Given the description of an element on the screen output the (x, y) to click on. 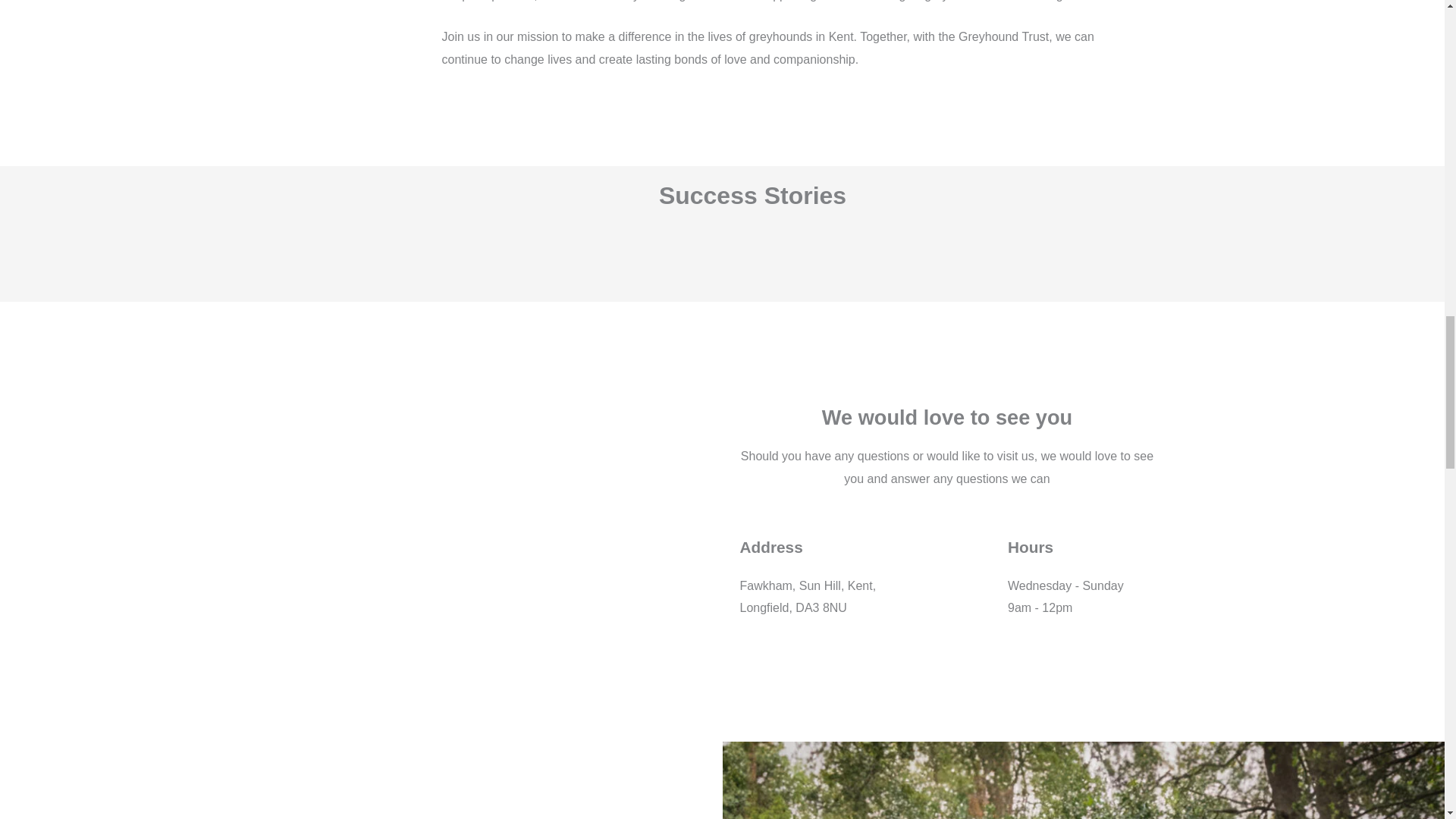
Success Stories (752, 195)
